Given the description of an element on the screen output the (x, y) to click on. 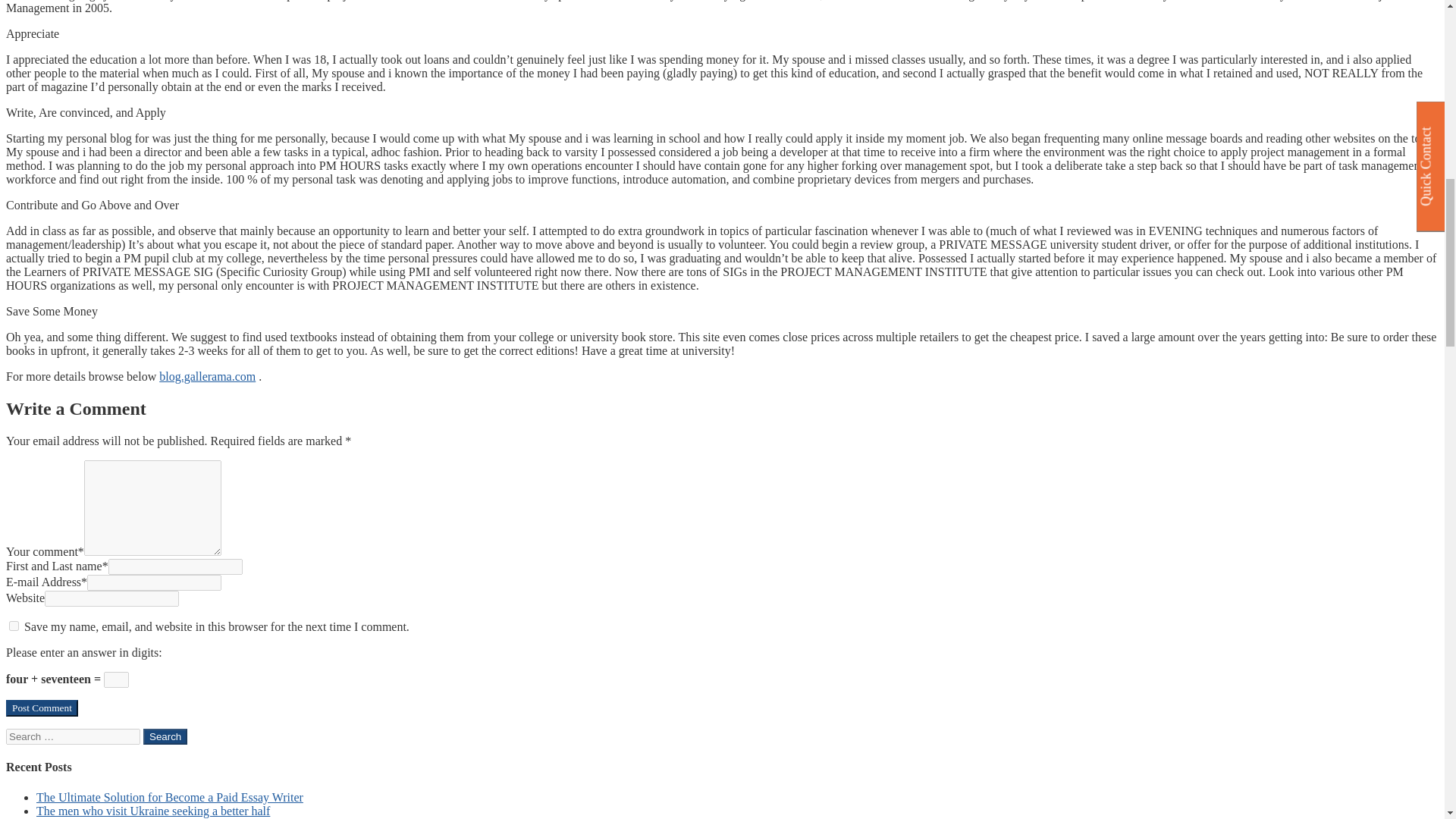
The men who visit Ukraine seeking a better half (152, 810)
Search (164, 736)
Search (164, 736)
yes (13, 625)
Post Comment (41, 708)
Post Comment (41, 708)
blog.gallerama.com (207, 376)
Search (164, 736)
The Ultimate Solution for Become a Paid Essay Writer (169, 797)
